Given the description of an element on the screen output the (x, y) to click on. 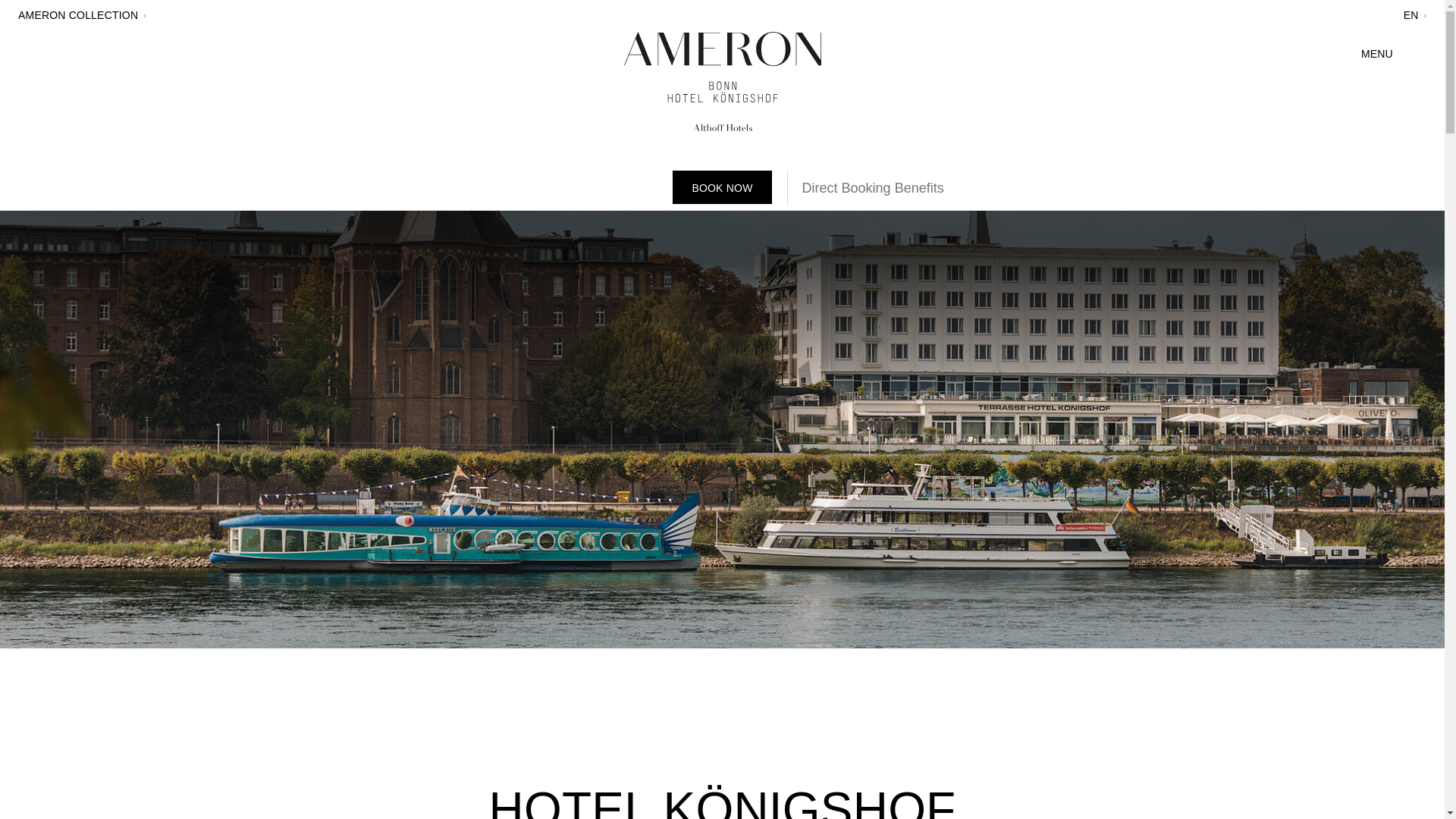
BOOK NOW (721, 186)
MENU (1393, 50)
